Given the description of an element on the screen output the (x, y) to click on. 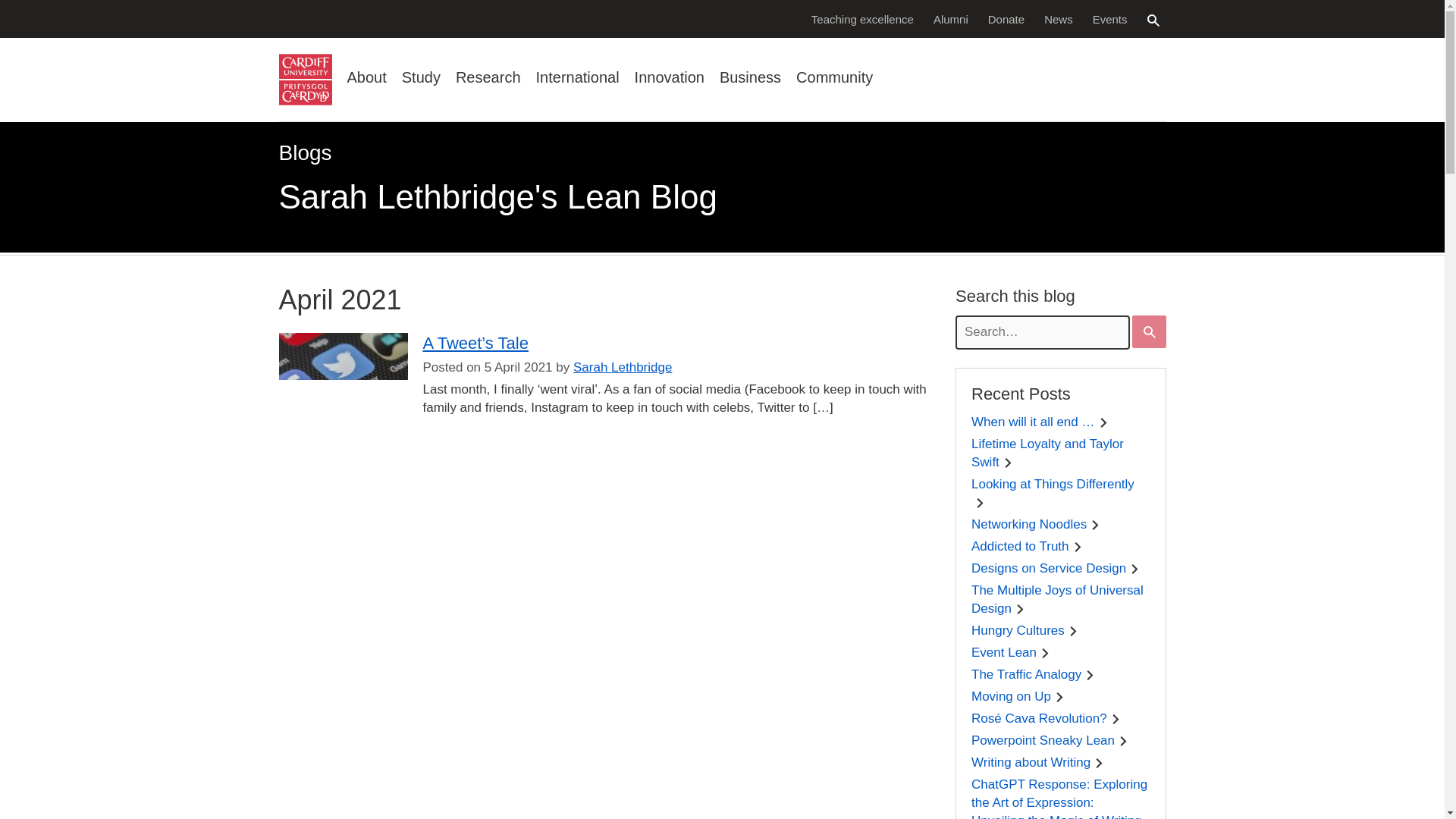
Chevron right (1089, 675)
Search query (1042, 332)
Search (1149, 331)
Chevron right (1134, 569)
Chevron right (1045, 653)
Chevron right (1115, 718)
Chevron right (1098, 763)
Chevron right (1123, 741)
Chevron right (1095, 524)
Search (1152, 20)
